Given the description of an element on the screen output the (x, y) to click on. 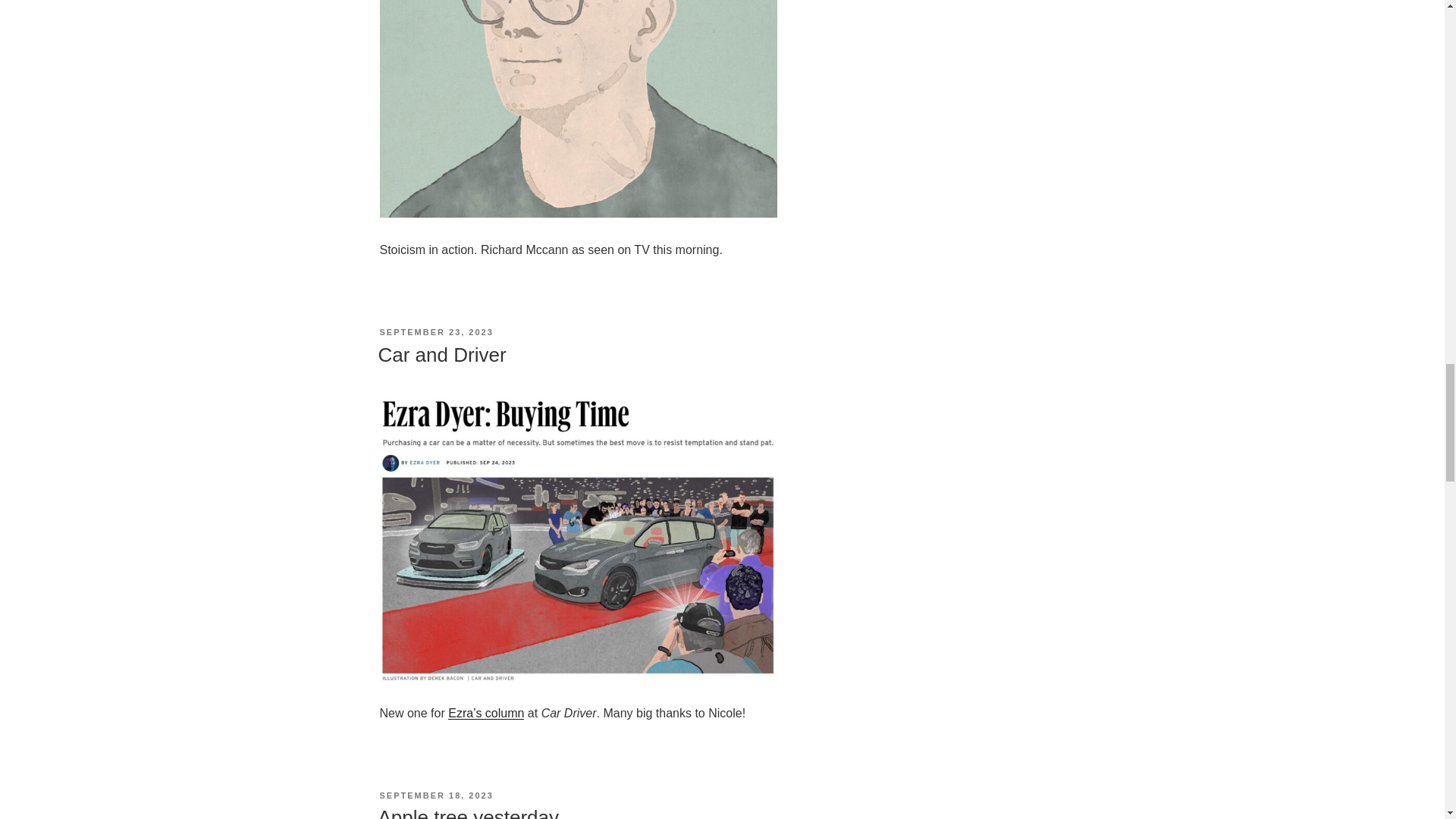
SEPTEMBER 18, 2023 (435, 795)
Car and Driver (441, 354)
Apple tree yesterday (467, 812)
SEPTEMBER 23, 2023 (435, 331)
